Given the description of an element on the screen output the (x, y) to click on. 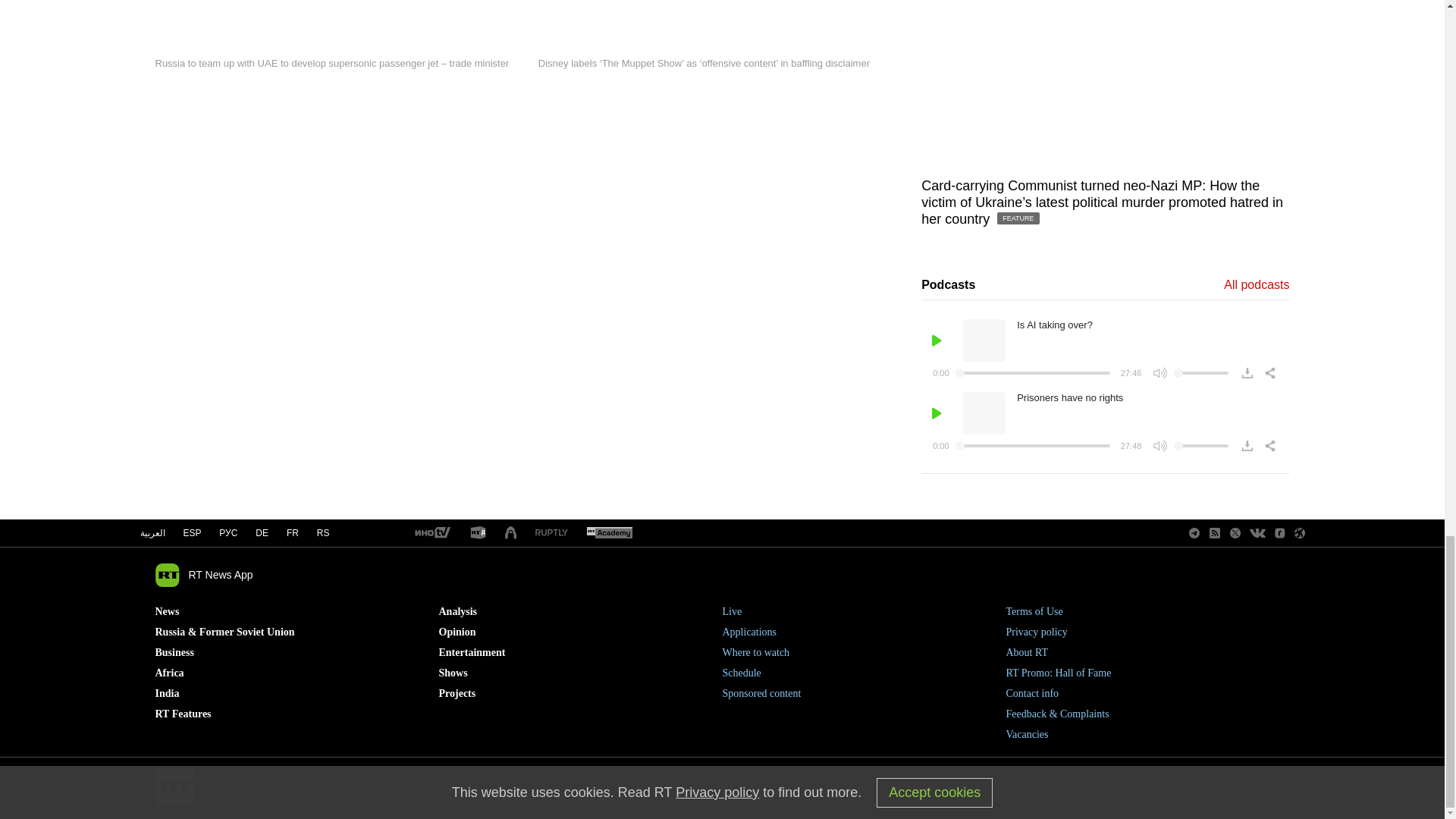
RT  (431, 533)
RT  (608, 533)
RT  (551, 533)
RT  (478, 533)
RT  (510, 533)
